Given the description of an element on the screen output the (x, y) to click on. 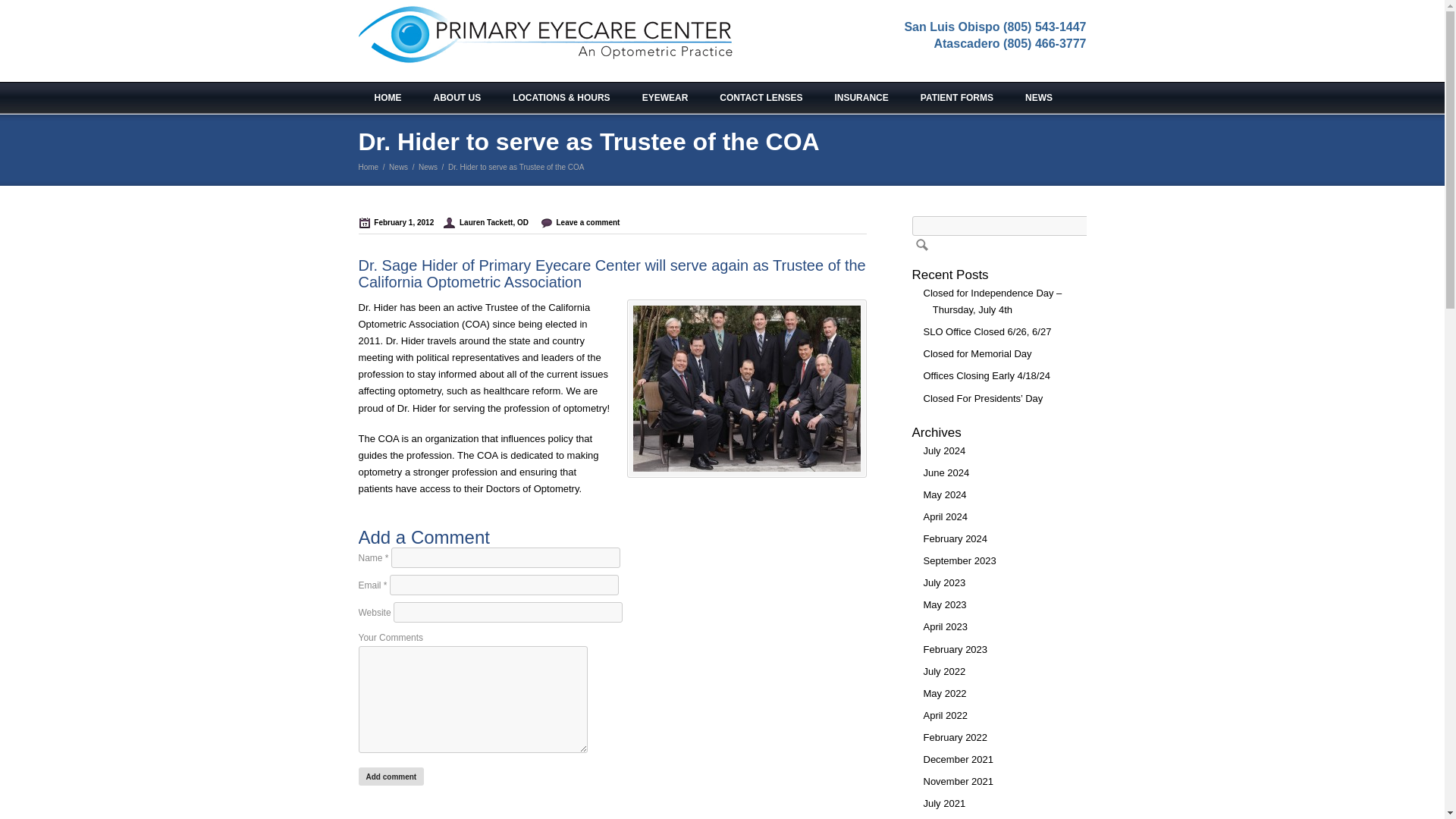
February 1, 2012 (409, 222)
EYEWEAR (665, 97)
July 2024 (938, 450)
Add comment (390, 776)
February 2024 (949, 538)
Leave a comment   (590, 222)
Search (919, 244)
News (397, 166)
Lauren Tackett, OD (494, 222)
April 2023 (939, 626)
11:55 pm (409, 222)
COA Board of Trustees (745, 388)
News (428, 166)
July 2022 (938, 671)
ABOUT US (456, 97)
